Given the description of an element on the screen output the (x, y) to click on. 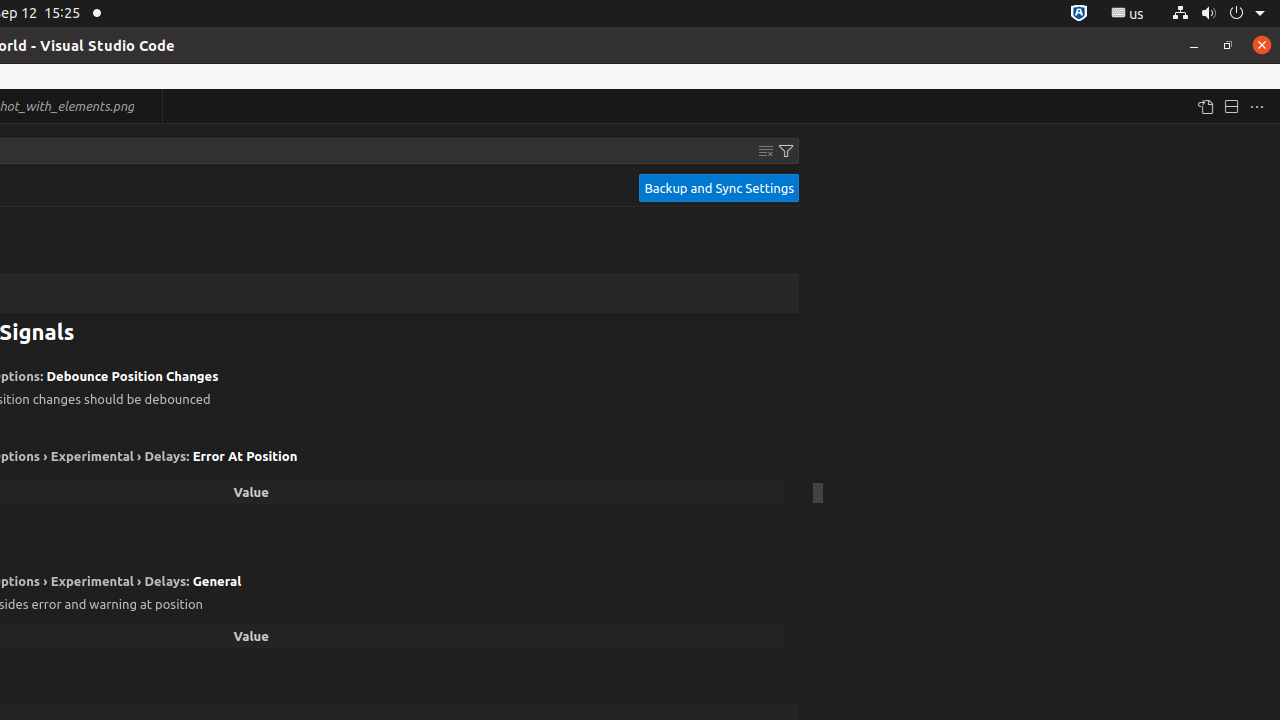
Clear Settings Search Input Element type: push-button (766, 151)
Split Editor Right (Ctrl+\) [Alt] Split Editor Down Element type: push-button (1231, 106)
Backup and Sync Settings Element type: push-button (719, 188)
Open Settings (JSON) Element type: push-button (1205, 106)
